Given the description of an element on the screen output the (x, y) to click on. 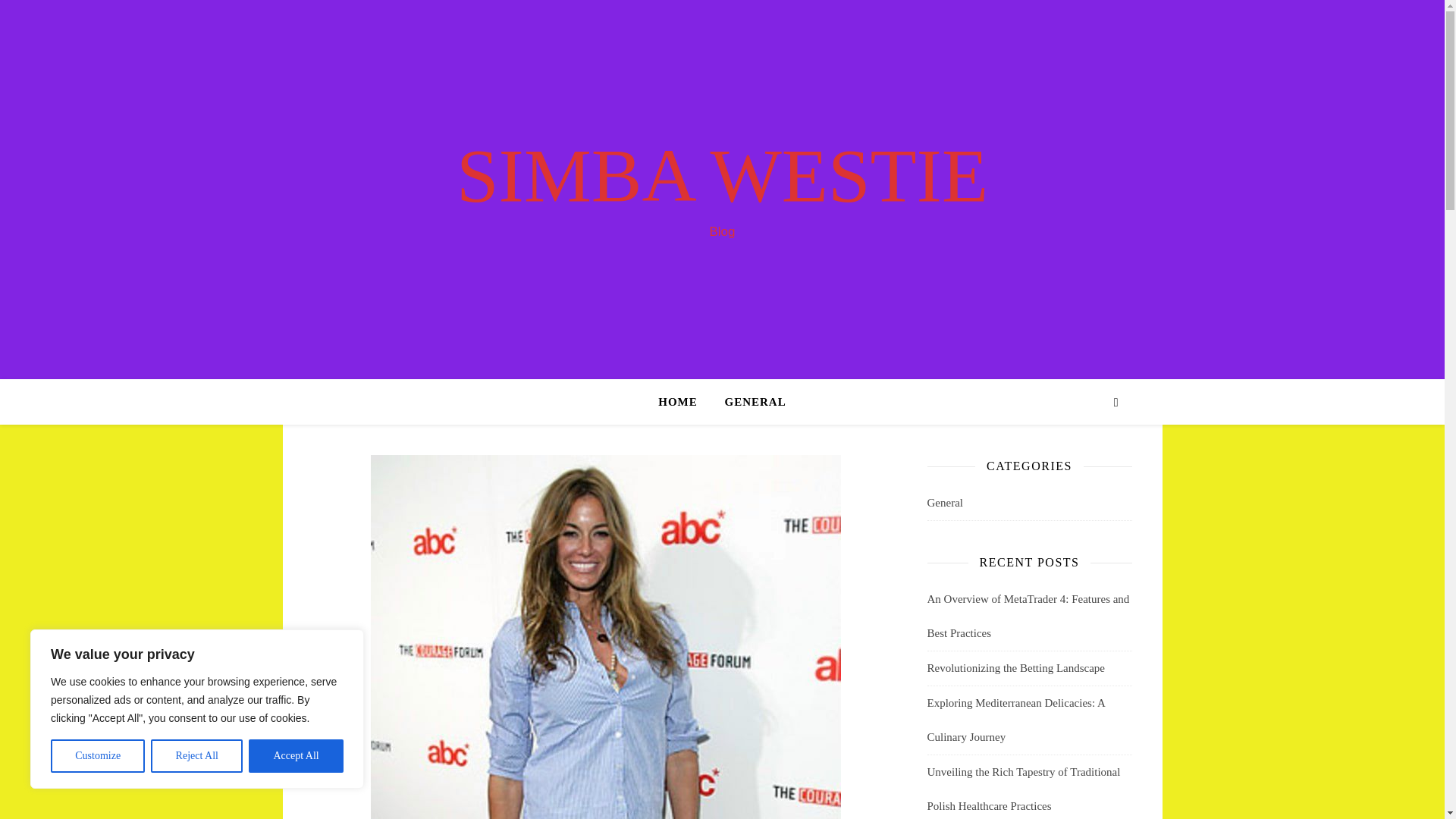
Revolutionizing the Betting Landscape (1015, 667)
HOME (684, 402)
GENERAL (749, 402)
Customize (97, 756)
General (944, 503)
An Overview of MetaTrader 4: Features and Best Practices (1027, 615)
Reject All (197, 756)
Accept All (295, 756)
Exploring Mediterranean Delicacies: A Culinary Journey (1015, 719)
